Given the description of an element on the screen output the (x, y) to click on. 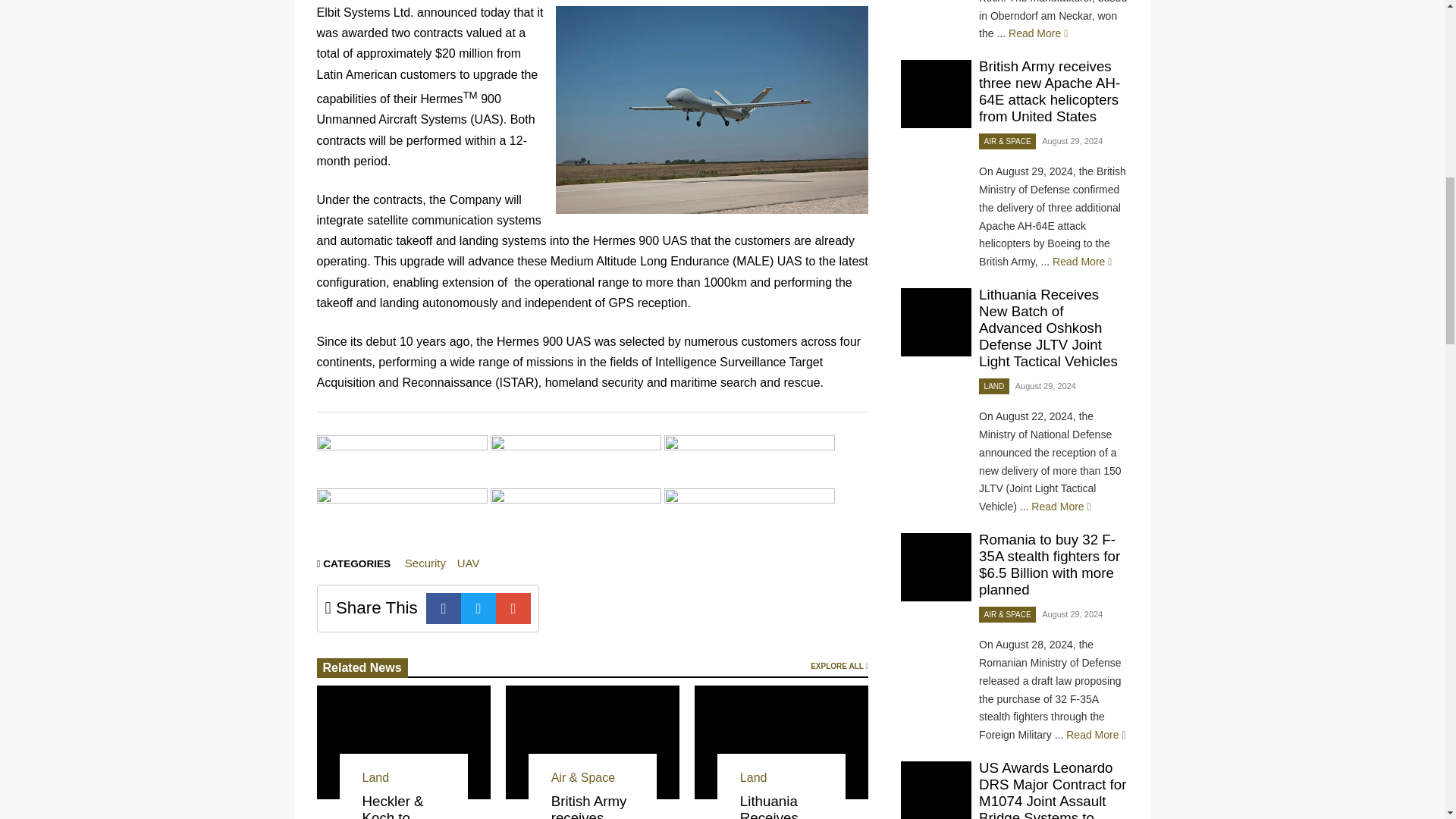
Related News (362, 668)
Facebook (443, 608)
Google-plus (513, 608)
Land (376, 777)
UAV (468, 562)
Twitter (478, 608)
Security (424, 562)
